Given the description of an element on the screen output the (x, y) to click on. 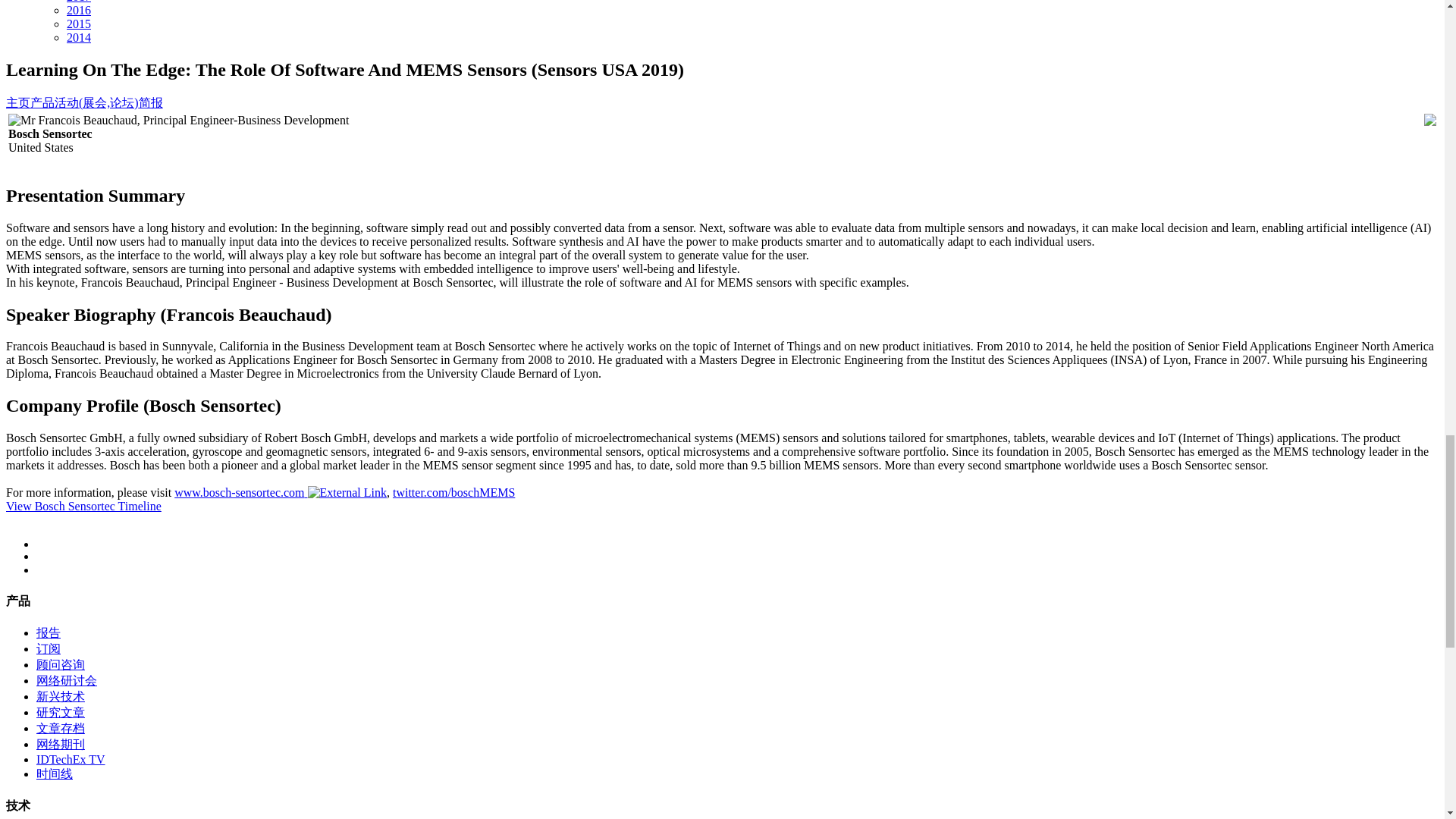
IDTechEx TV (70, 758)
